Given the description of an element on the screen output the (x, y) to click on. 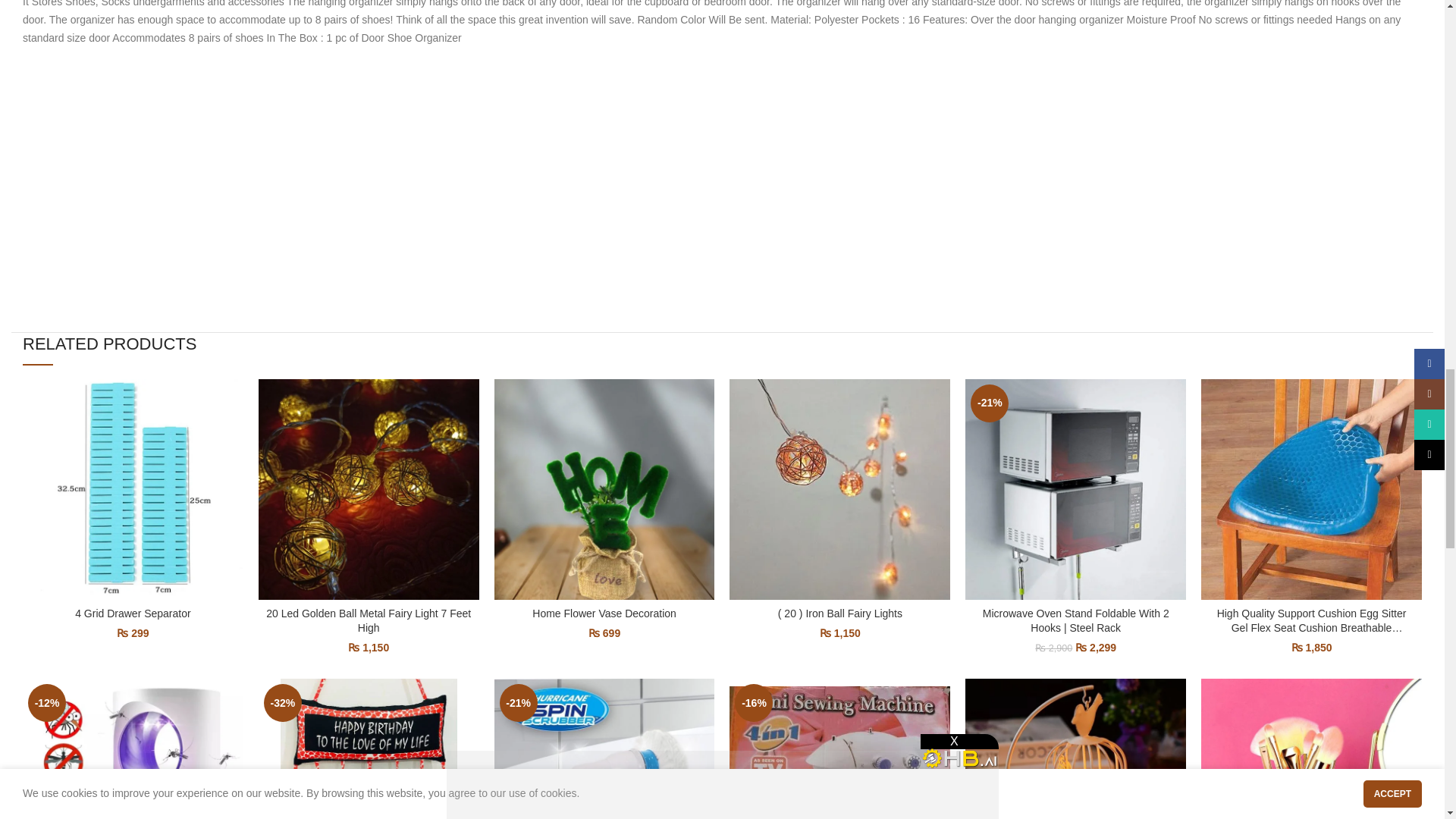
3rd party ad content (721, 111)
